Given the description of an element on the screen output the (x, y) to click on. 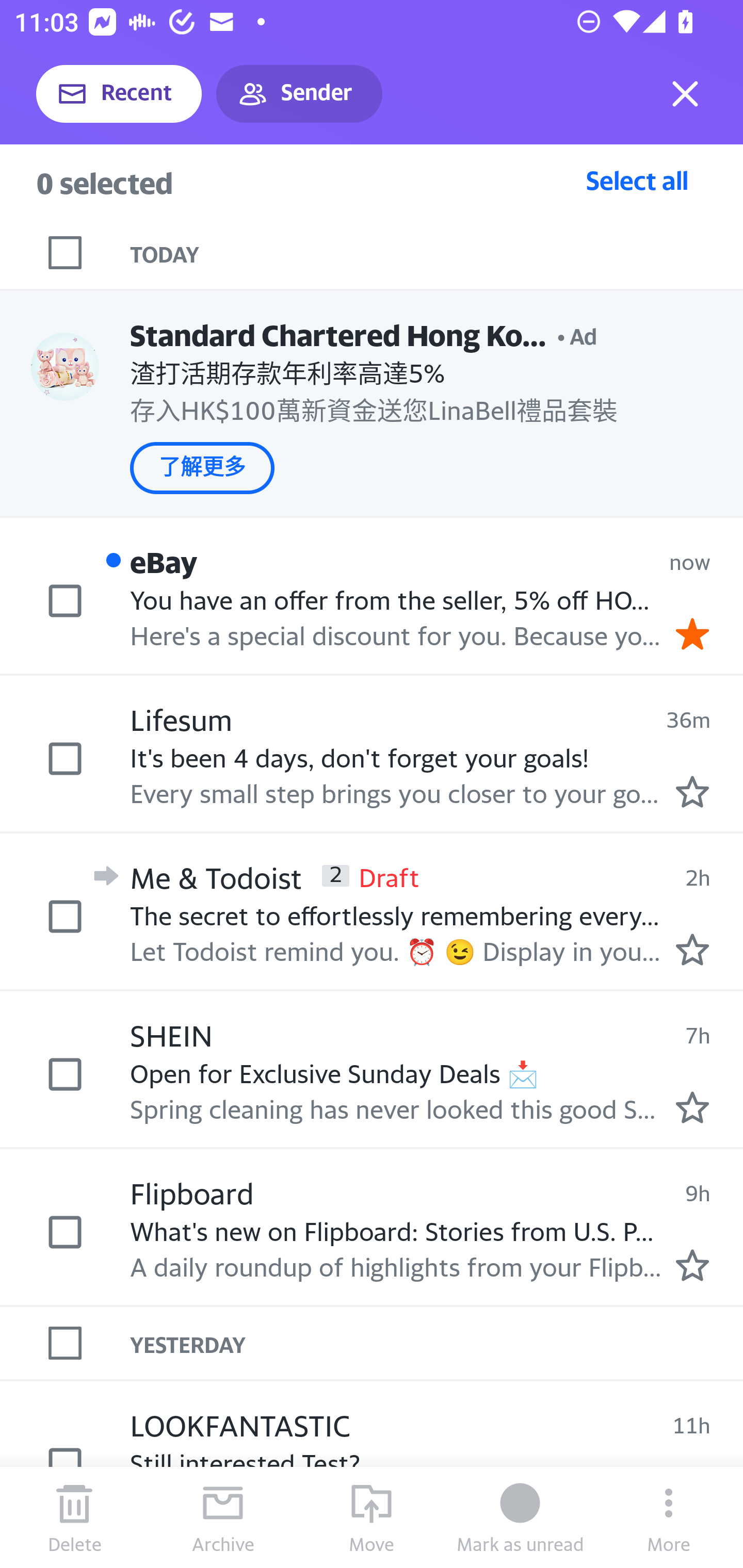
Sender (299, 93)
Exit selection mode (684, 93)
Select all (637, 180)
TODAY (436, 252)
Remove star. (692, 634)
Mark as starred. (692, 791)
Mark as starred. (692, 949)
Mark as starred. (692, 1107)
Mark as starred. (692, 1264)
YESTERDAY (436, 1342)
Delete (74, 1517)
Archive (222, 1517)
Move (371, 1517)
Mark as unread (519, 1517)
More (668, 1517)
